Given the description of an element on the screen output the (x, y) to click on. 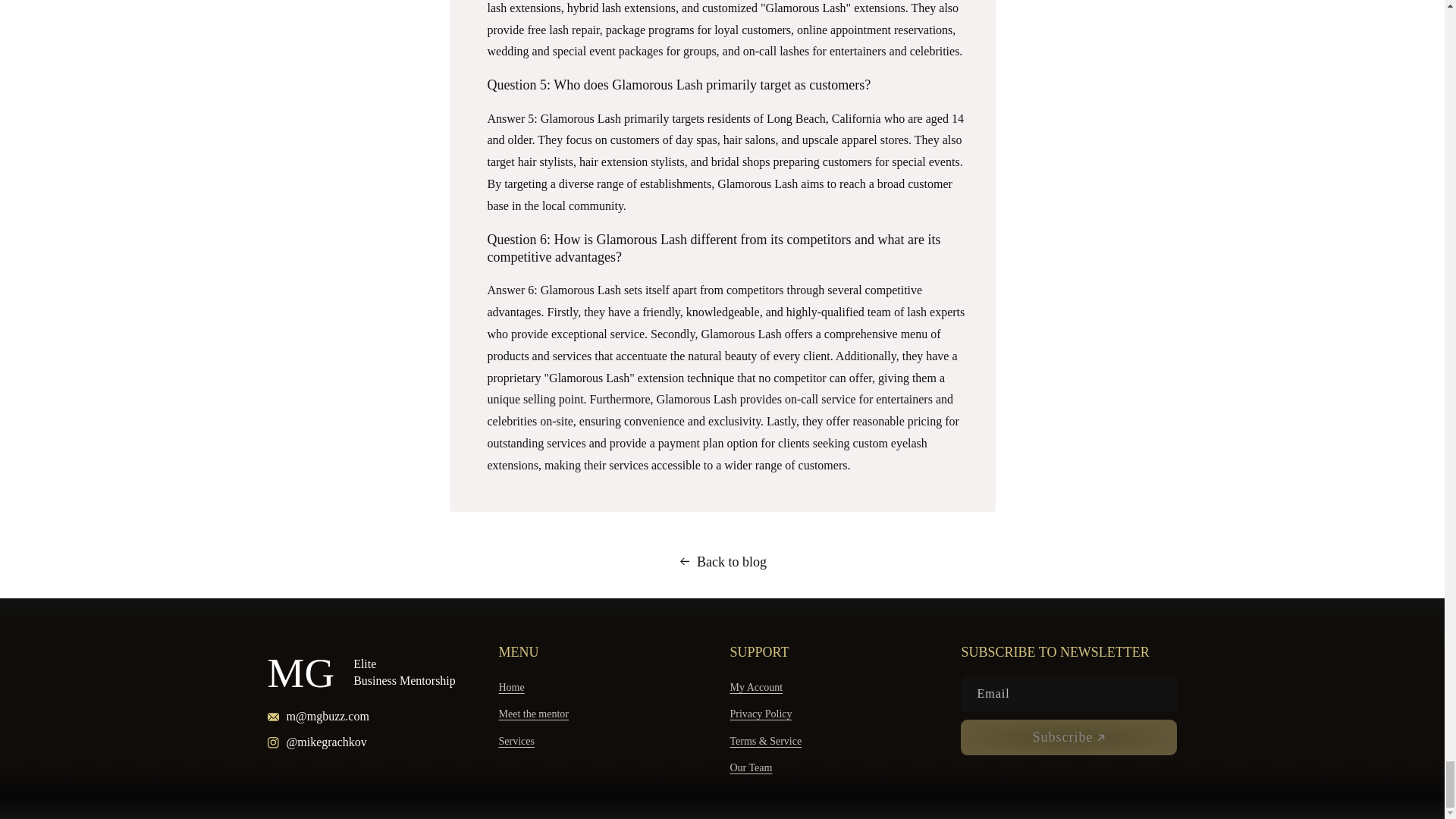
Home (511, 689)
Meet the mentor (534, 714)
Subscribe (1067, 737)
My Account (756, 689)
Services (516, 741)
Our Team (750, 767)
Privacy Policy (760, 714)
